Given the description of an element on the screen output the (x, y) to click on. 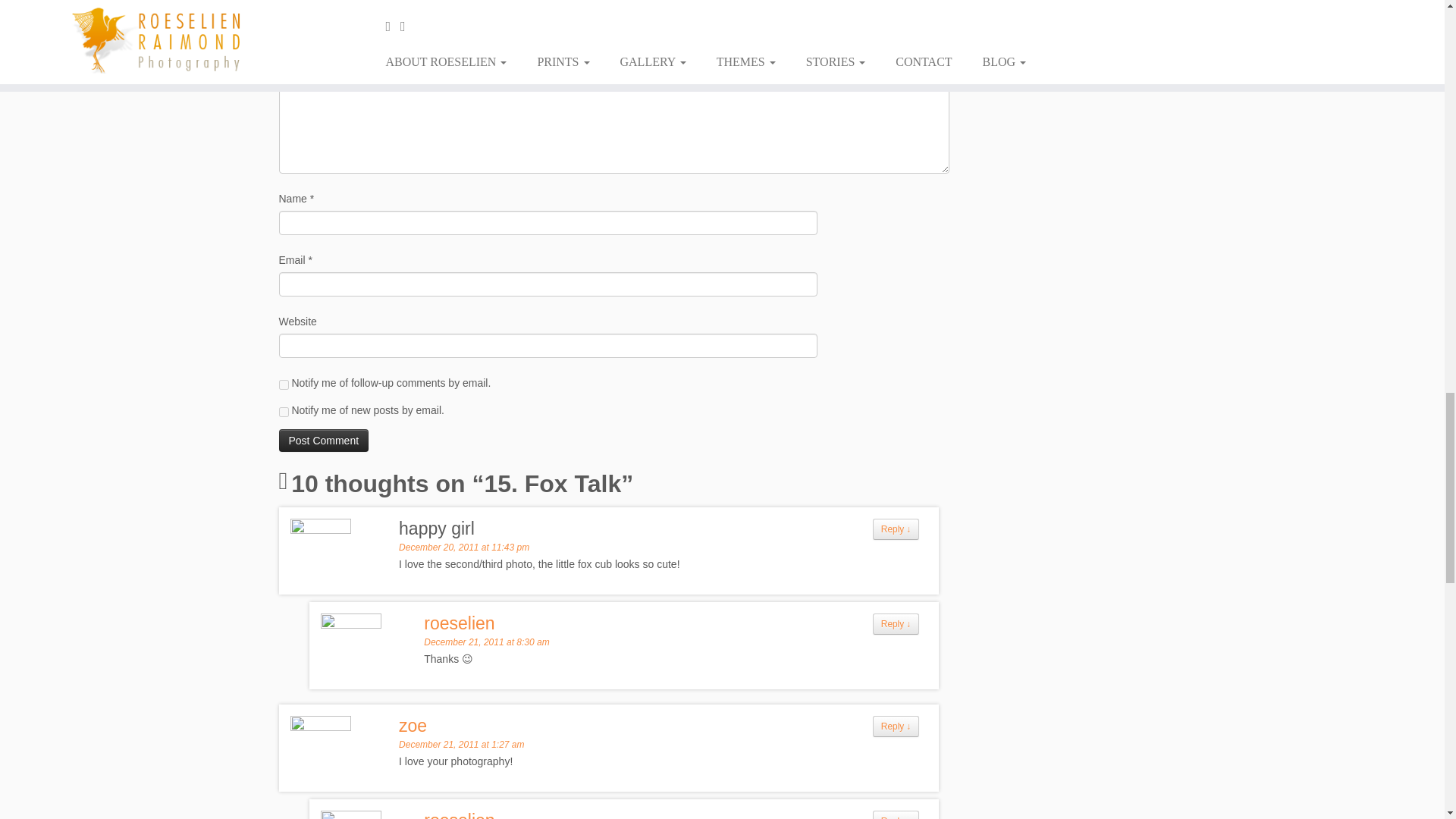
Post Comment (324, 440)
subscribe (283, 411)
subscribe (283, 384)
